Given the description of an element on the screen output the (x, y) to click on. 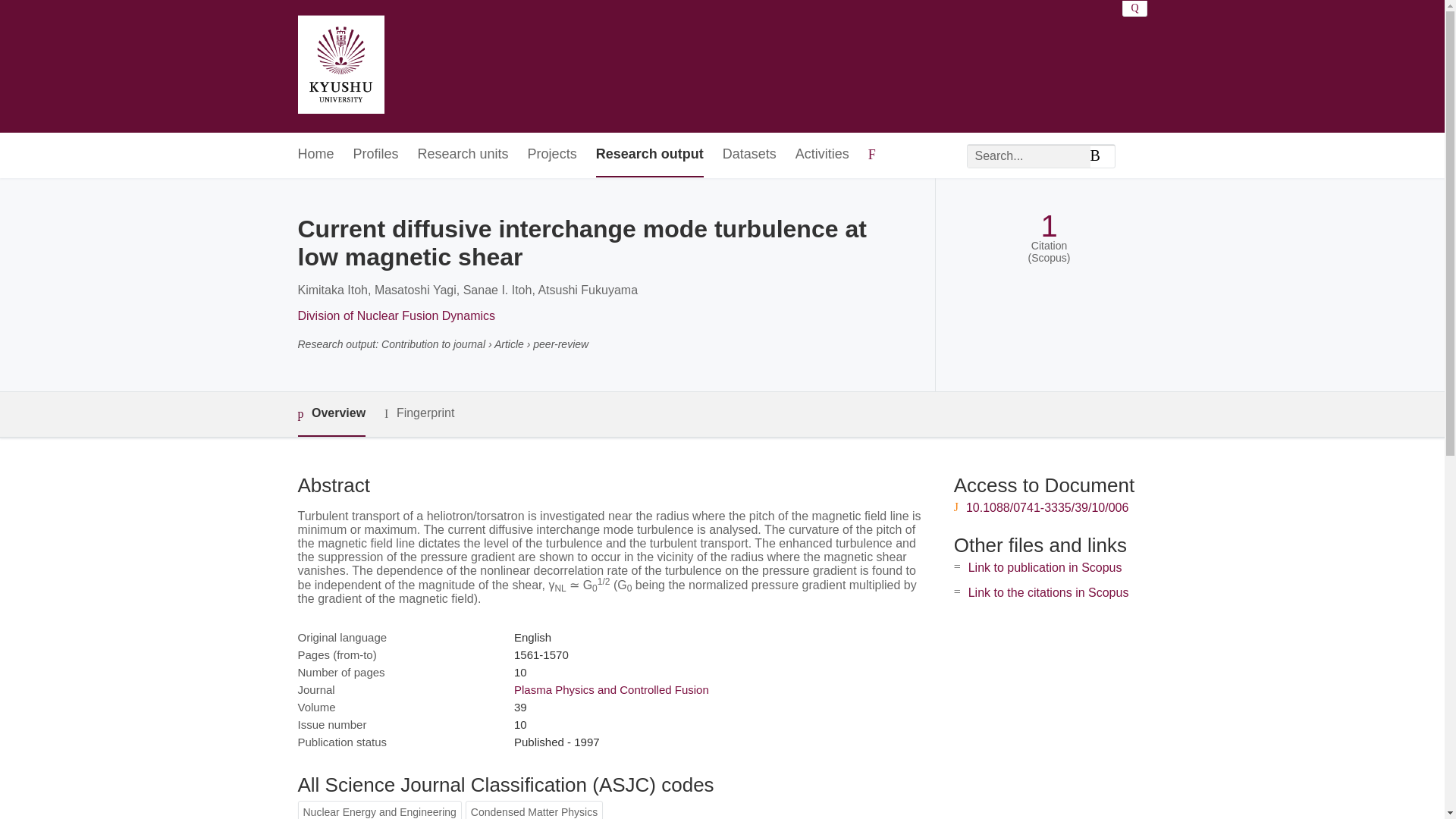
1 (1049, 225)
Fingerprint (419, 413)
Plasma Physics and Controlled Fusion (611, 689)
Datasets (749, 154)
Link to the citations in Scopus (1048, 592)
Overview (331, 414)
Division of Nuclear Fusion Dynamics (396, 315)
Research output (649, 154)
Projects (551, 154)
Home (315, 154)
Activities (821, 154)
Kyushu University Home (340, 66)
Profiles (375, 154)
Link to publication in Scopus (1045, 567)
